Given the description of an element on the screen output the (x, y) to click on. 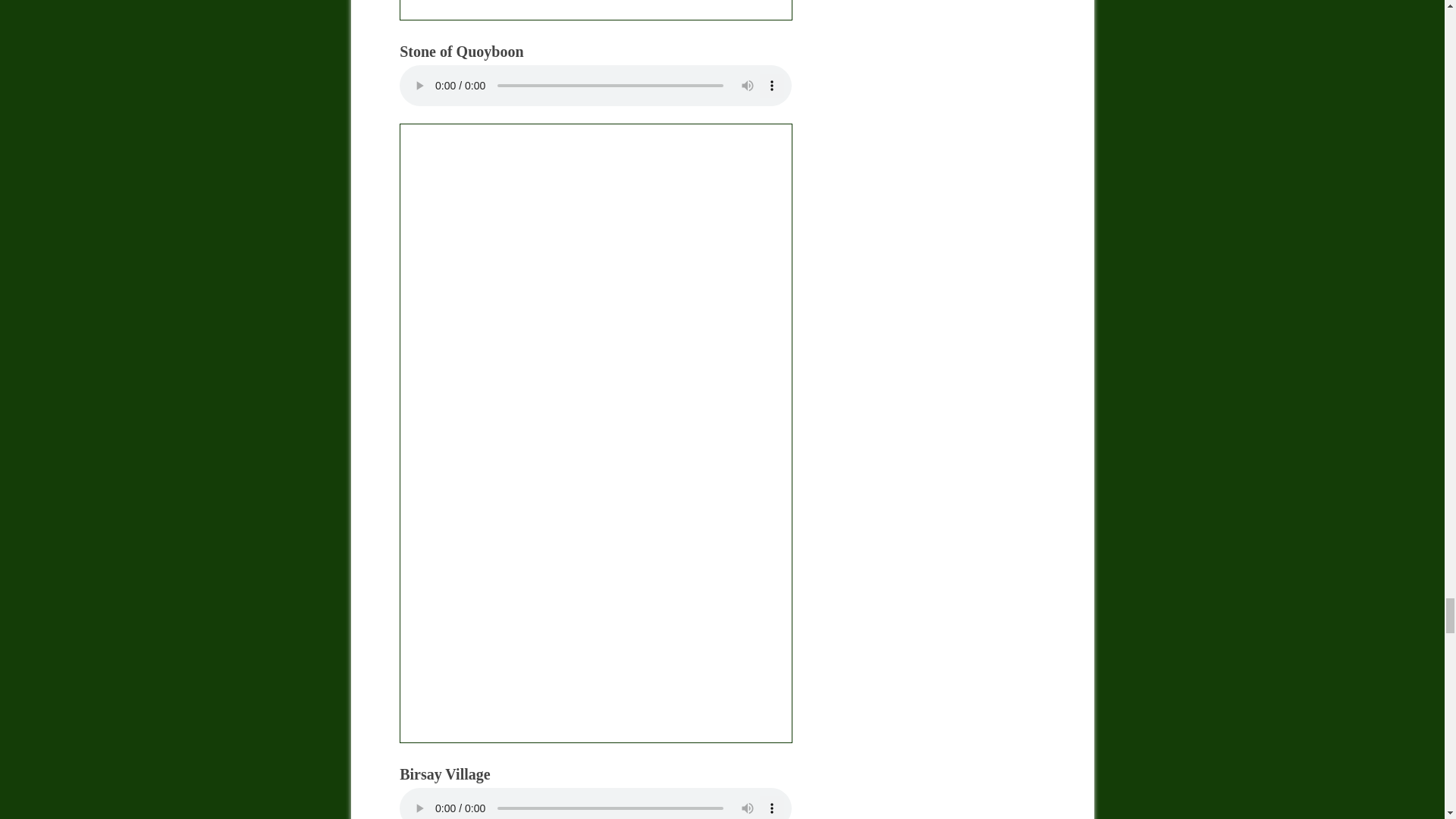
Millstone tables at Bay of Skaill (595, 10)
